Given the description of an element on the screen output the (x, y) to click on. 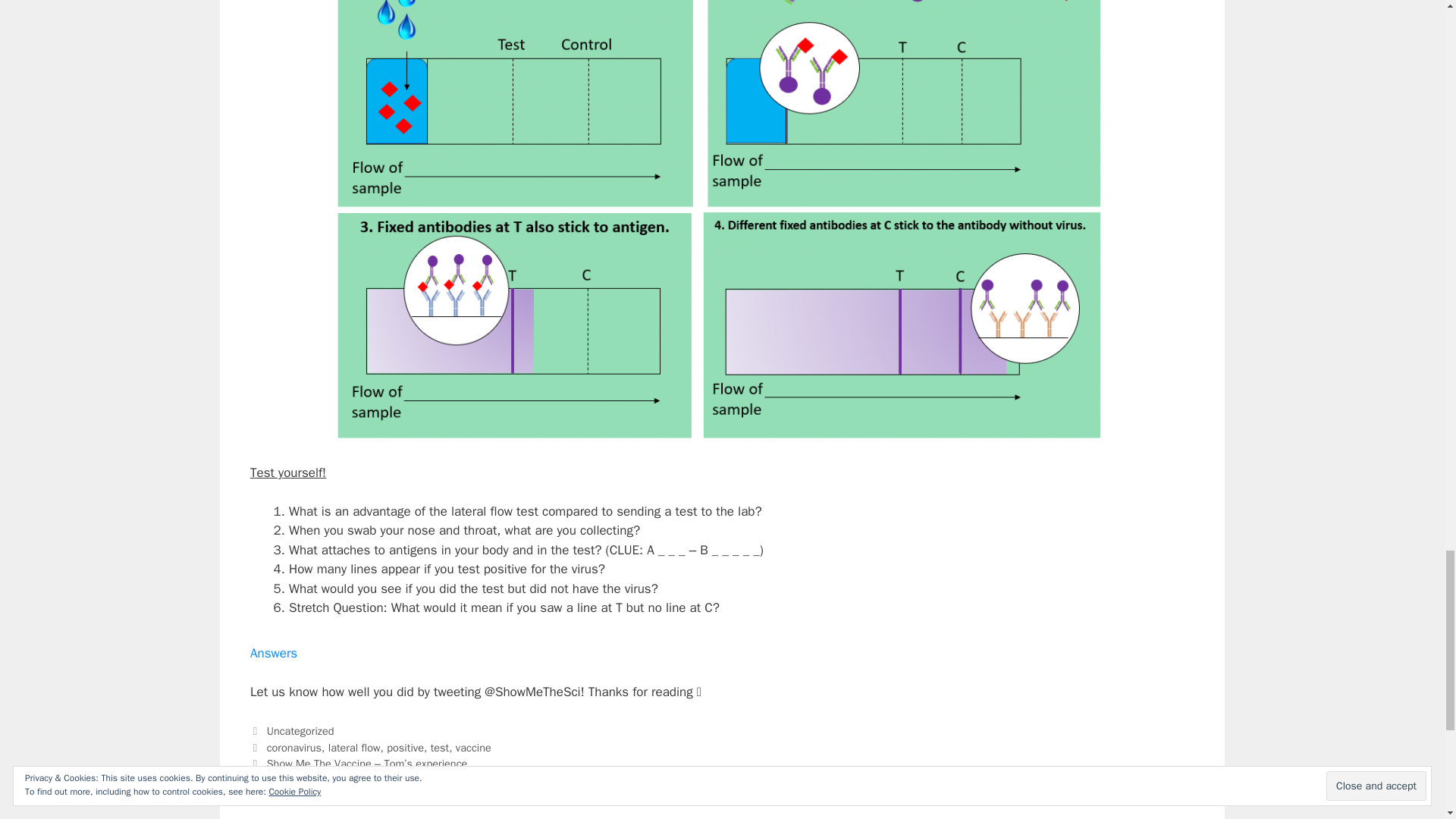
test (439, 747)
vaccine (473, 747)
coronavirus (293, 747)
lateral flow (354, 747)
positive (405, 747)
Uncategorized (300, 730)
Answers (273, 652)
